Given the description of an element on the screen output the (x, y) to click on. 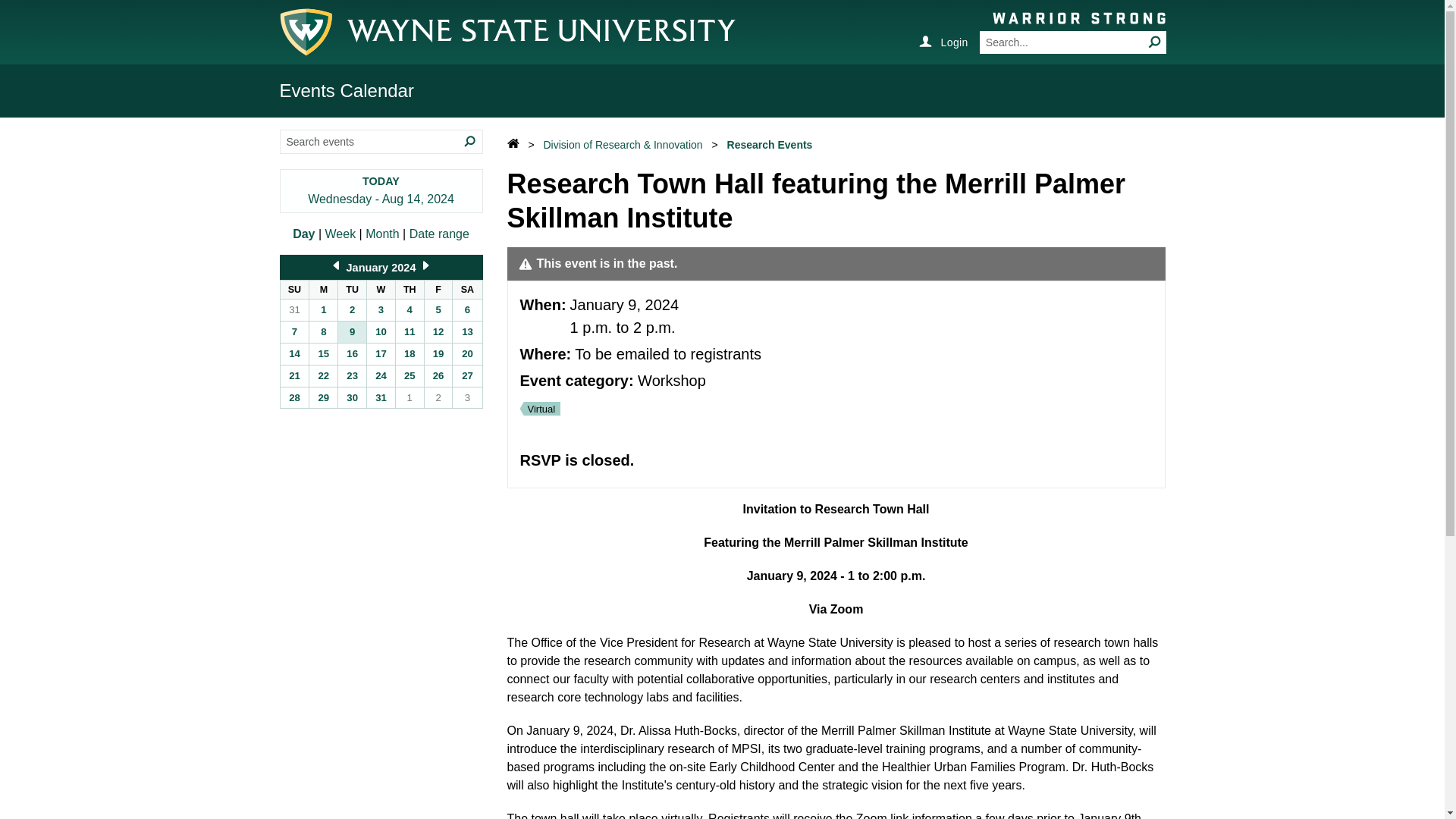
Warrior strong (1078, 16)
4 (409, 310)
Research Events (769, 144)
home (513, 144)
Week (340, 233)
View next month (424, 267)
Date range (438, 233)
2 (351, 310)
Events Calendar (346, 90)
View previous month (336, 267)
